Given the description of an element on the screen output the (x, y) to click on. 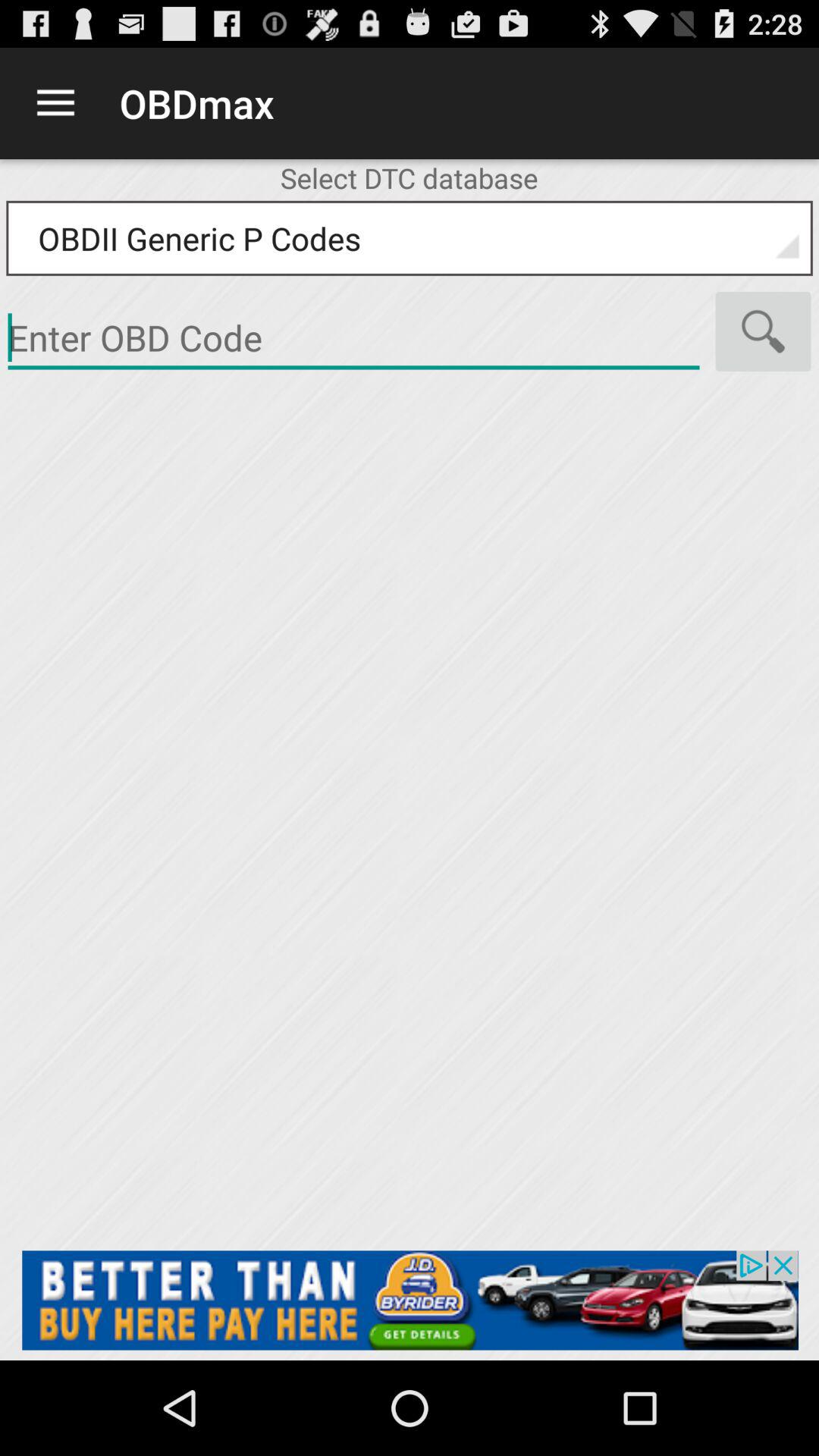
search option (763, 331)
